Given the description of an element on the screen output the (x, y) to click on. 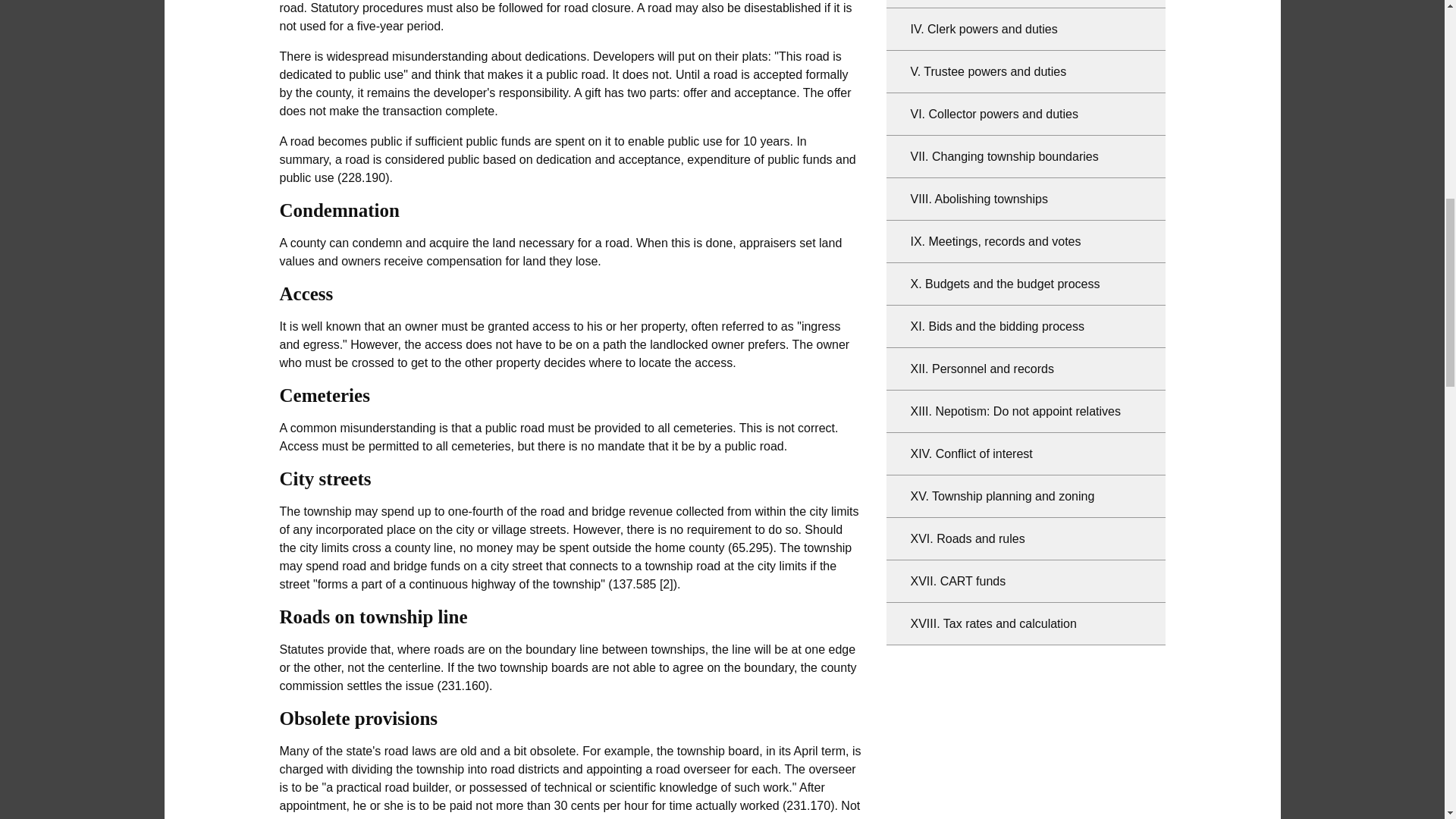
VIII. Abolishing townships (1024, 199)
V. Trustee powers and duties (1024, 71)
III. The township board (1024, 4)
VII. Changing township boundaries (1024, 156)
VI. Collector powers and duties (1024, 114)
IV. Clerk powers and duties (1024, 29)
